Given the description of an element on the screen output the (x, y) to click on. 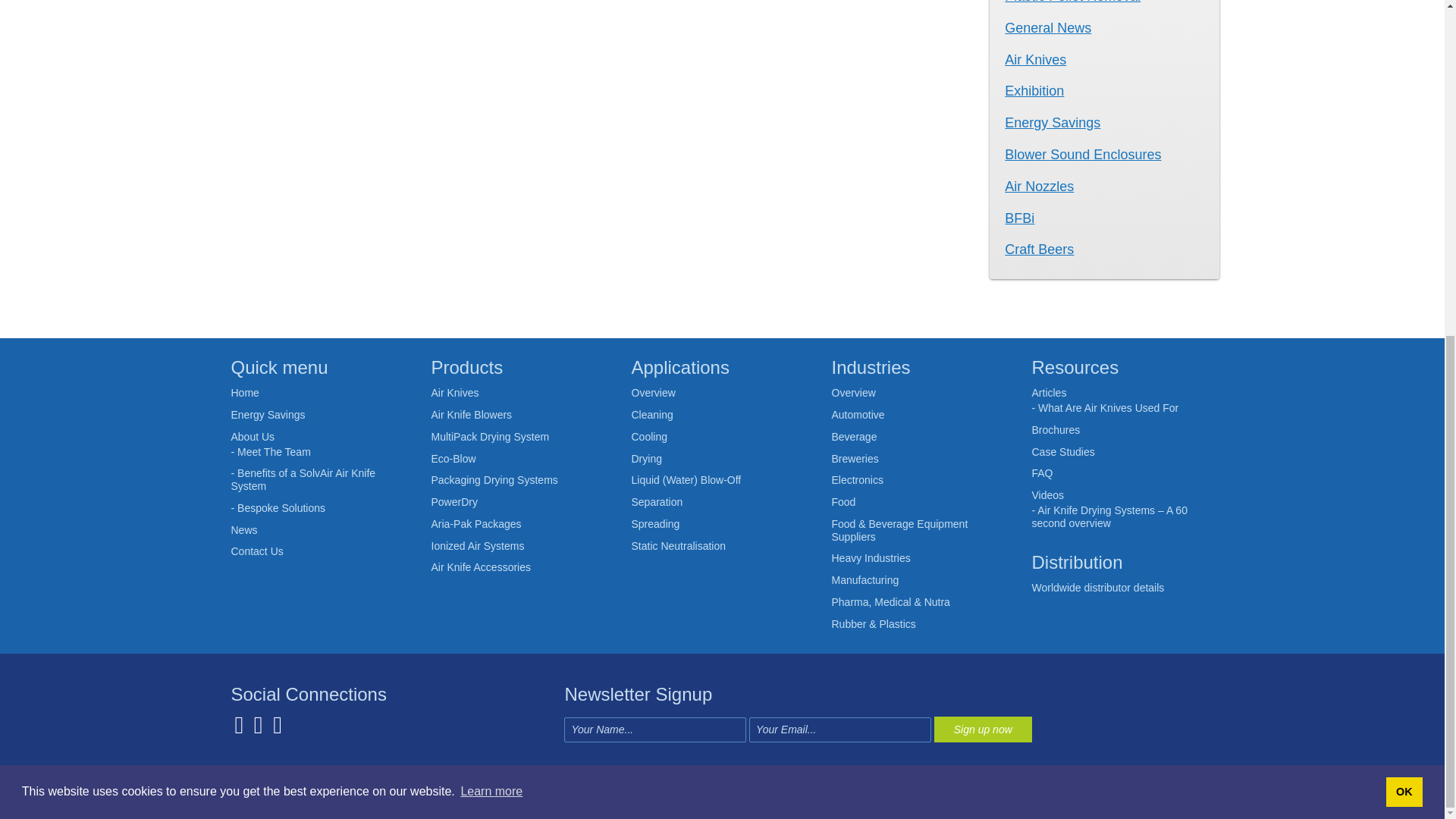
OK (1404, 227)
Learn more (491, 227)
Your Email... (840, 729)
Your Name... (654, 729)
